Given the description of an element on the screen output the (x, y) to click on. 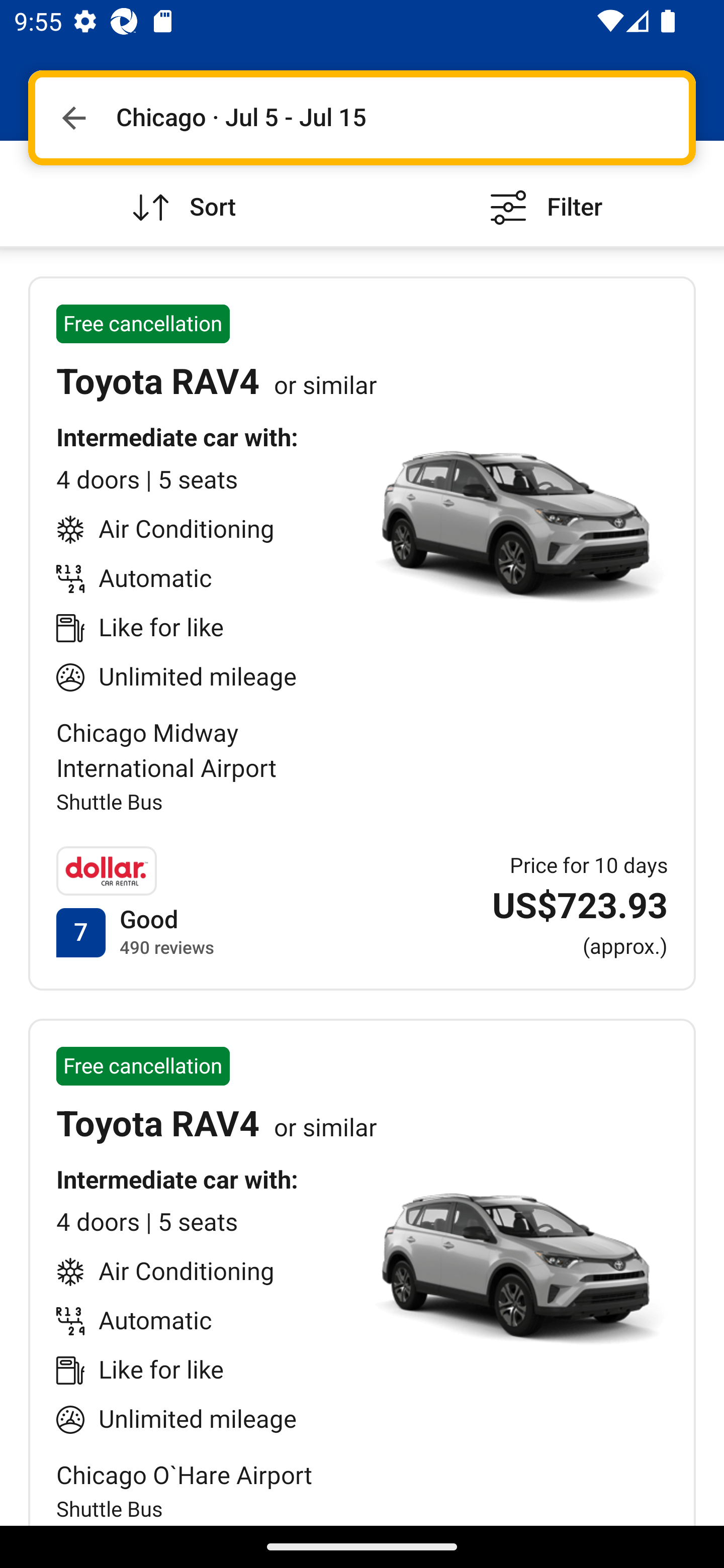
Back to previous screen (73, 117)
Sort (181, 193)
Filter (543, 193)
